Given the description of an element on the screen output the (x, y) to click on. 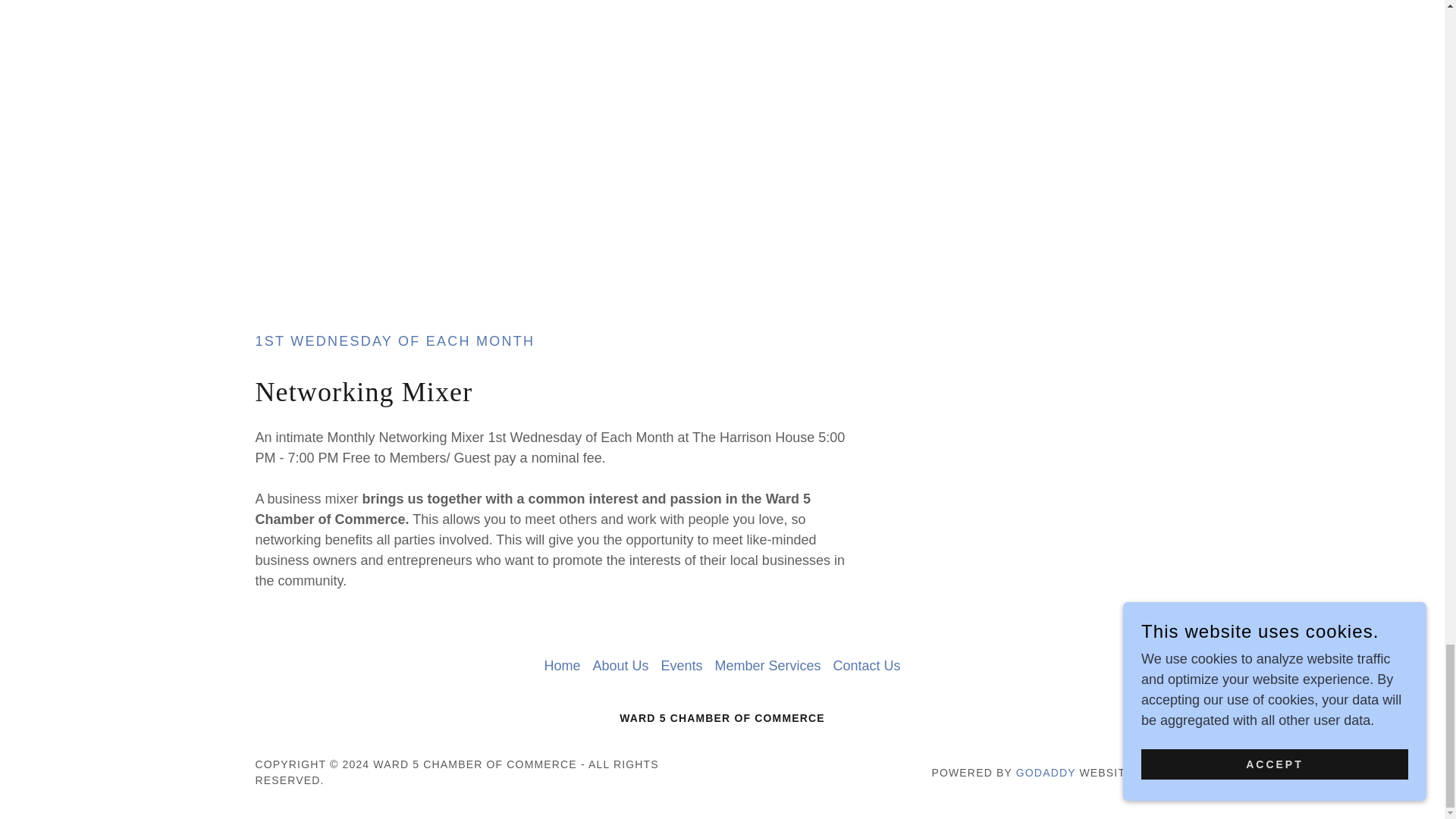
Events (680, 665)
About Us (619, 665)
Contact Us (867, 665)
GODADDY (1045, 772)
Member Services (767, 665)
Home (561, 665)
